Given the description of an element on the screen output the (x, y) to click on. 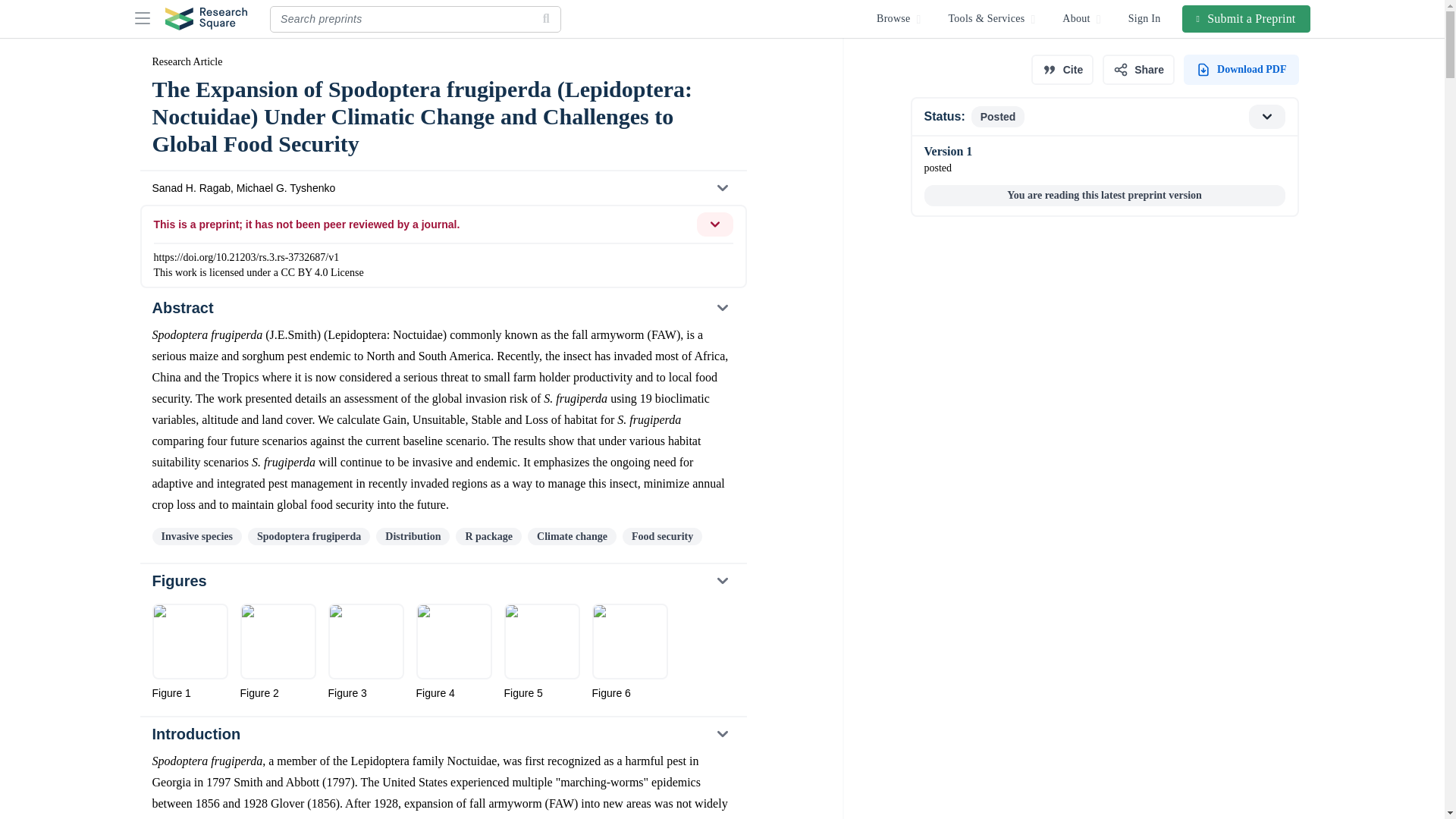
Submit a Preprint (1246, 18)
Figures (442, 580)
Abstract (442, 307)
Sanad H. Ragab, Michael G. Tyshenko (442, 187)
Introduction (442, 734)
Sign In (1144, 18)
